Given the description of an element on the screen output the (x, y) to click on. 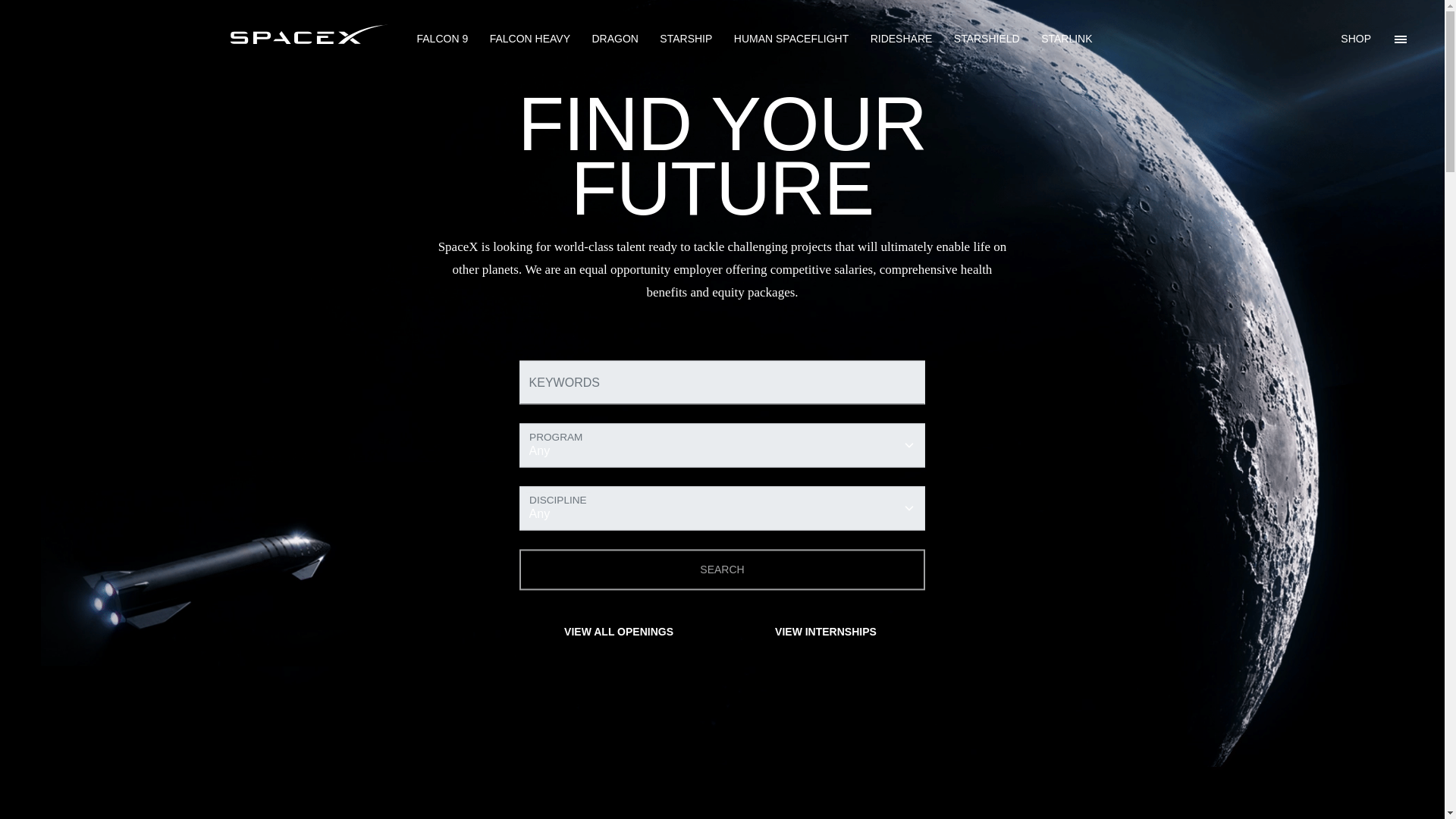
FALCON 9 (442, 38)
RIDESHARE (901, 38)
FALCON HEAVY (529, 38)
STARSHIP (685, 38)
STARSHIELD (986, 38)
DRAGON (614, 38)
STARLINK (1066, 38)
VIEW ALL OPENINGS (619, 632)
VIEW INTERNSHIPS (826, 632)
SEARCH (722, 569)
